Given the description of an element on the screen output the (x, y) to click on. 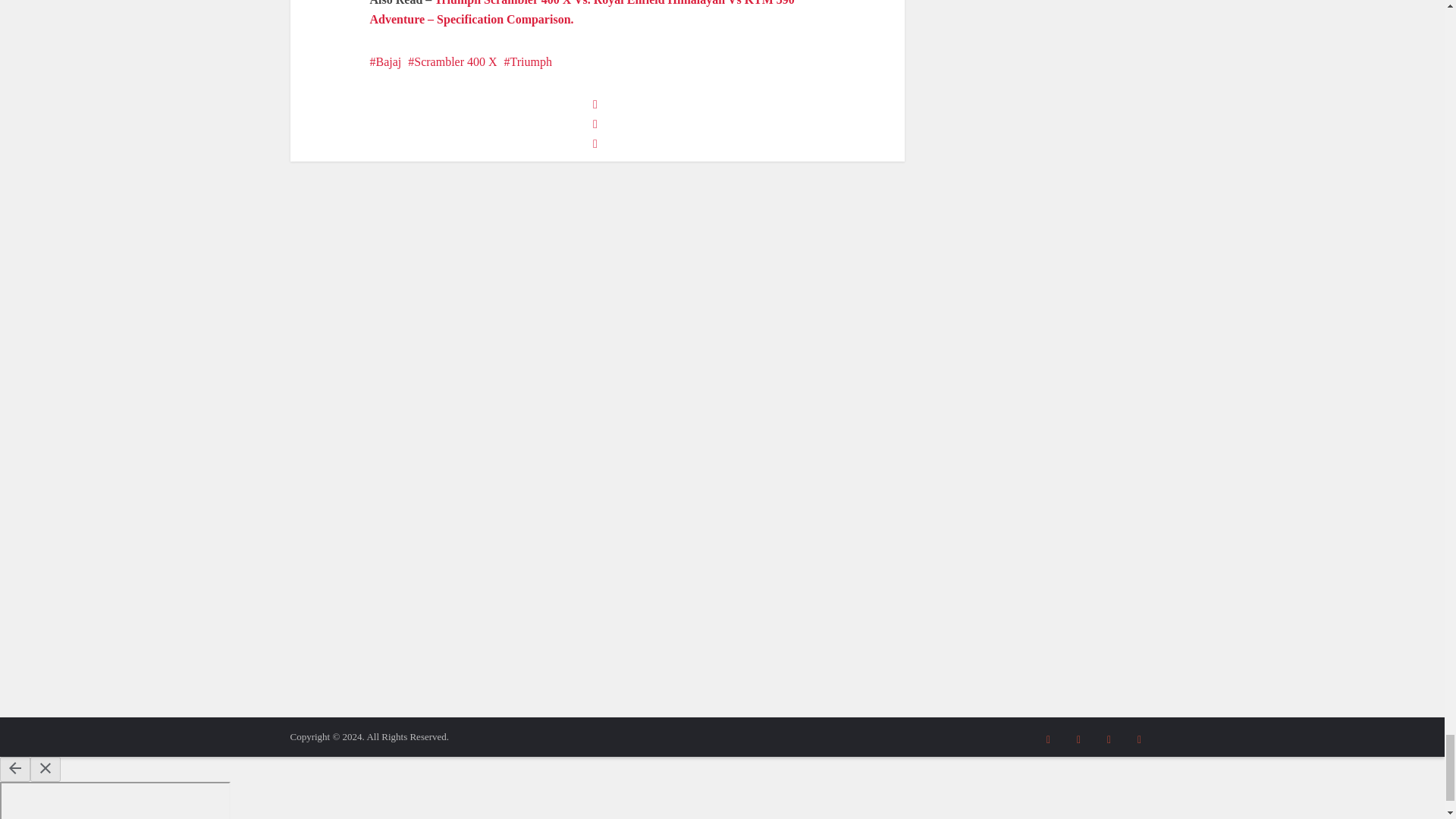
Scrambler 400 X (451, 61)
Bajaj (385, 61)
Triumph (527, 61)
